Given the description of an element on the screen output the (x, y) to click on. 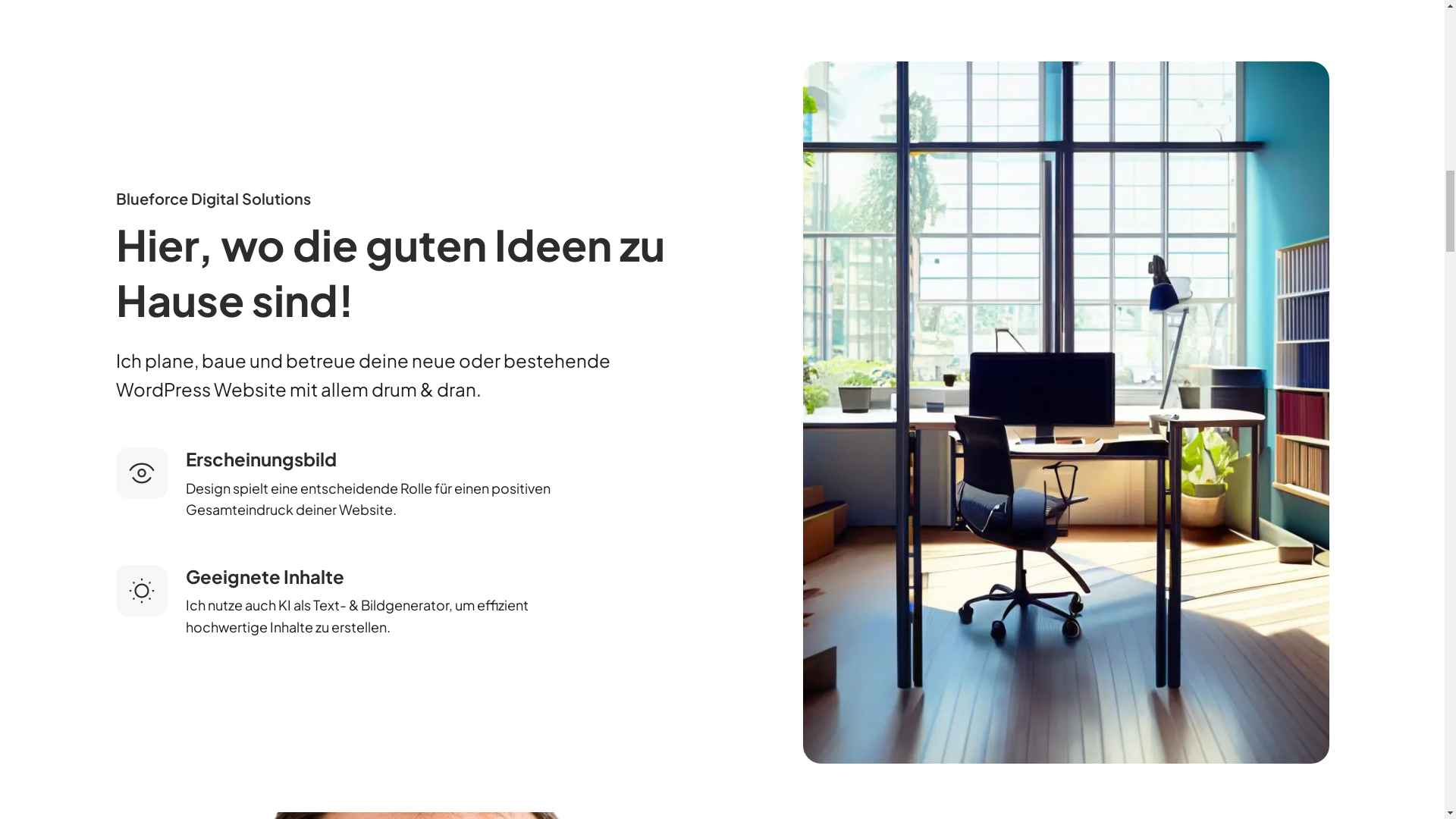
Referenzen Element type: text (544, 51)
Kontakt Element type: text (1274, 52)
Preise Element type: text (455, 51)
Service Element type: text (378, 51)
